Given the description of an element on the screen output the (x, y) to click on. 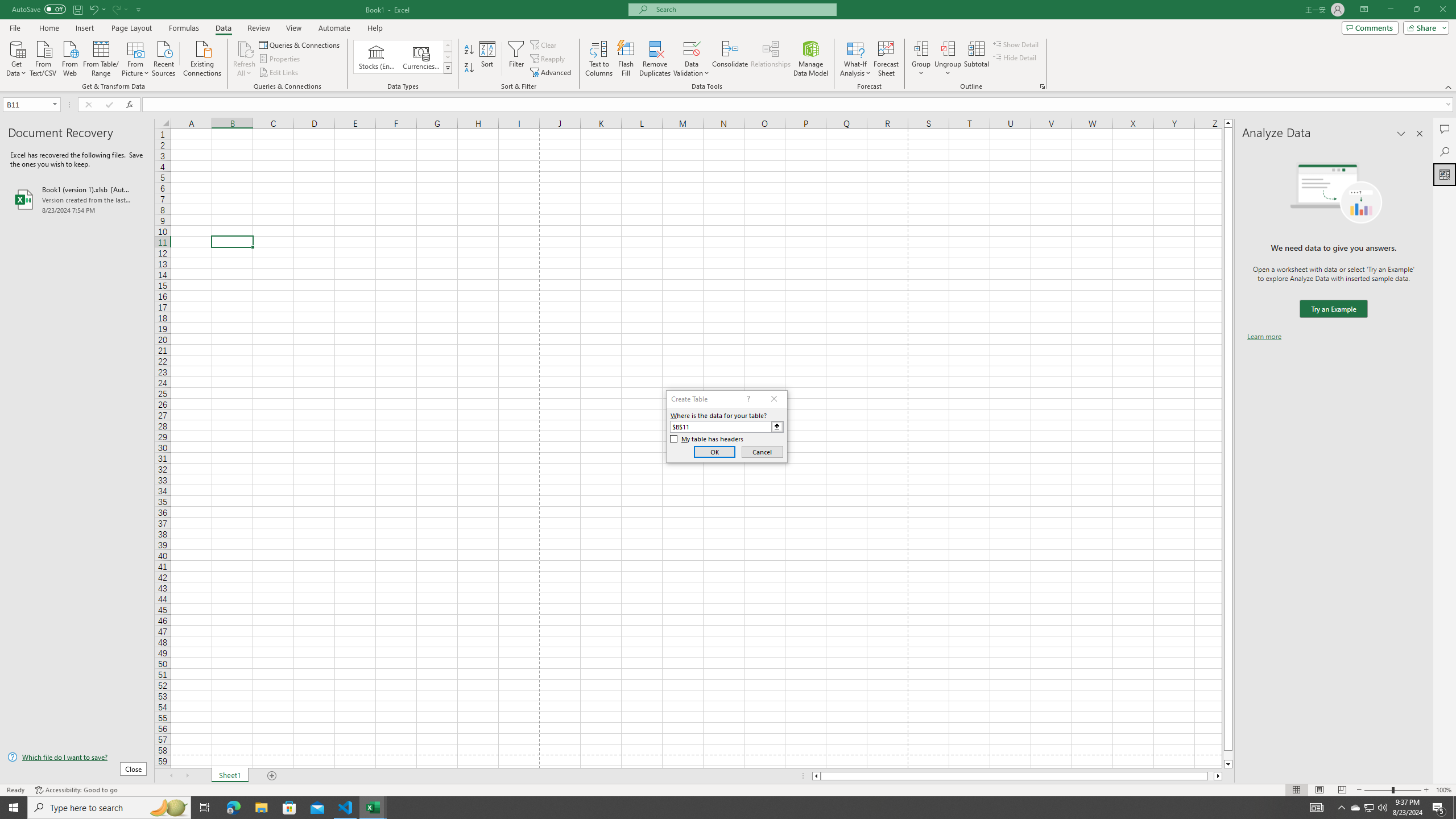
Formula Bar (799, 104)
Data Types (448, 67)
Get Data (16, 57)
Flash Fill (625, 58)
Manage Data Model (810, 58)
Currencies (English) (420, 56)
